Given the description of an element on the screen output the (x, y) to click on. 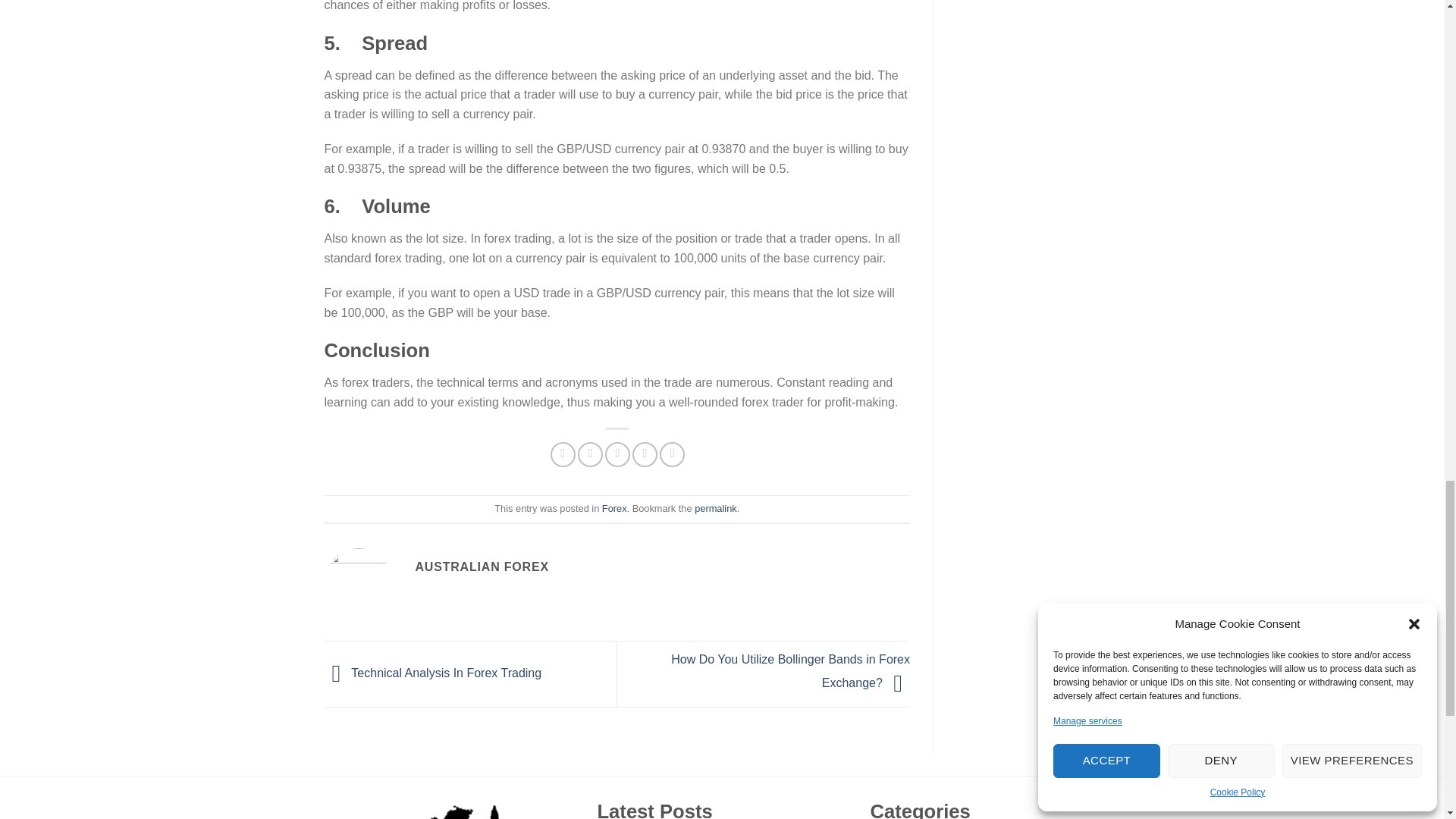
Technical Analysis In Forex Trading (432, 672)
How Do You Utilize Bollinger Bands in Forex Exchange? (790, 670)
Forex (614, 508)
Permalink to 6 Basic Technical Terms Used in Forex Trading (715, 508)
permalink (715, 508)
